Given the description of an element on the screen output the (x, y) to click on. 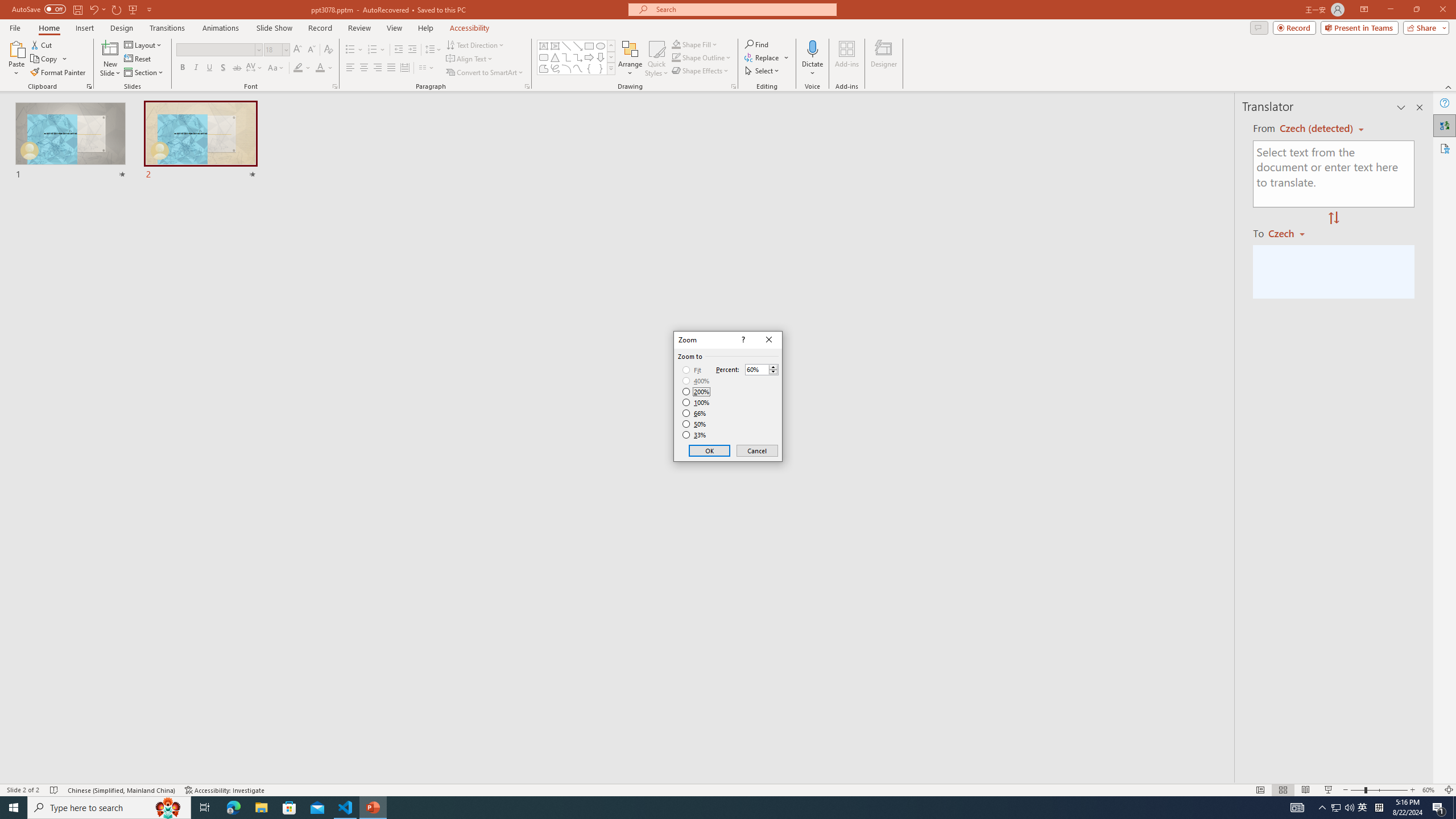
Shape Outline Green, Accent 1 (675, 56)
Czech (detected) (1317, 128)
Action Center, 1 new notification (1439, 807)
Czech (1291, 232)
